Given the description of an element on the screen output the (x, y) to click on. 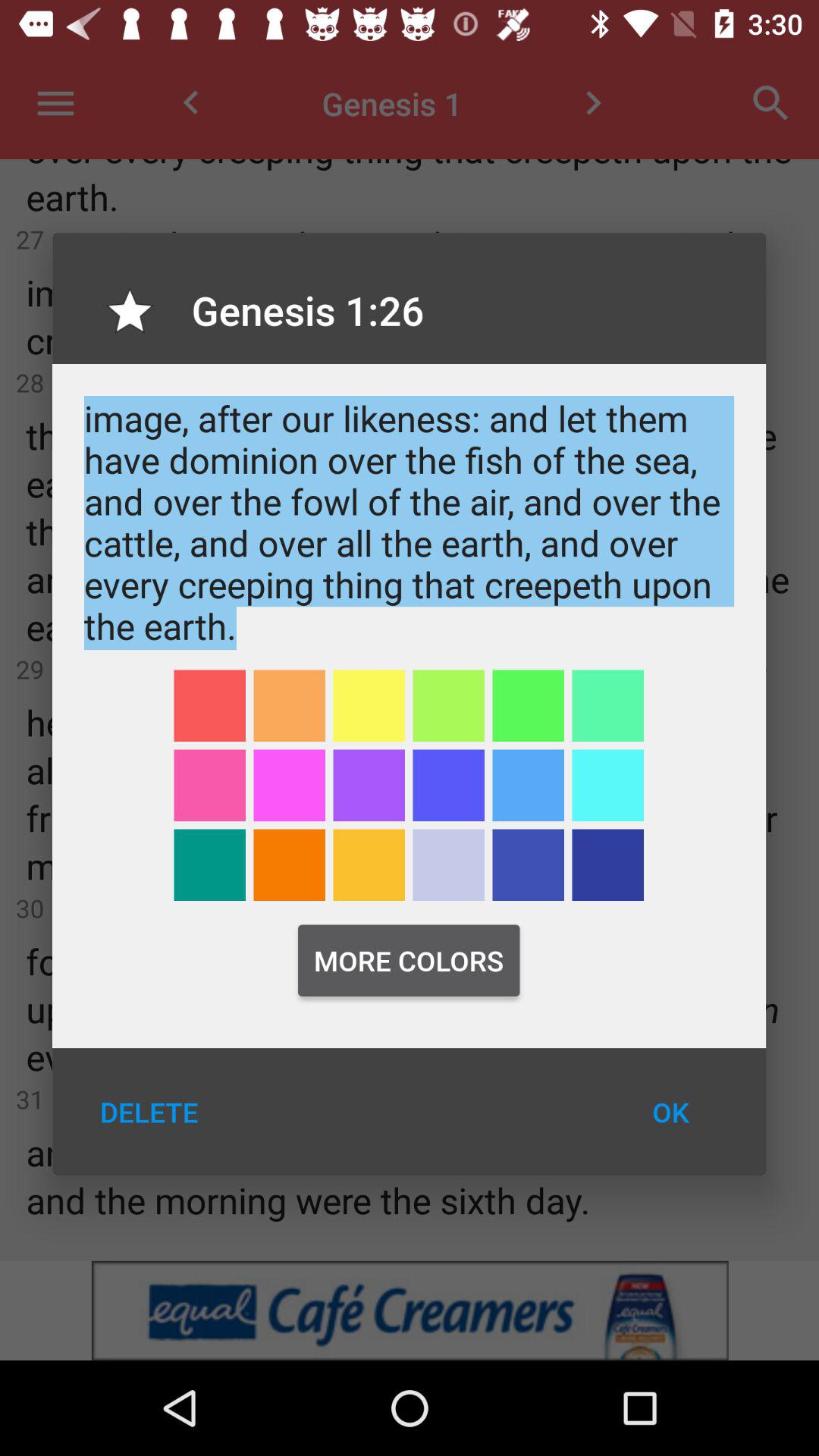
select color (368, 705)
